Given the description of an element on the screen output the (x, y) to click on. 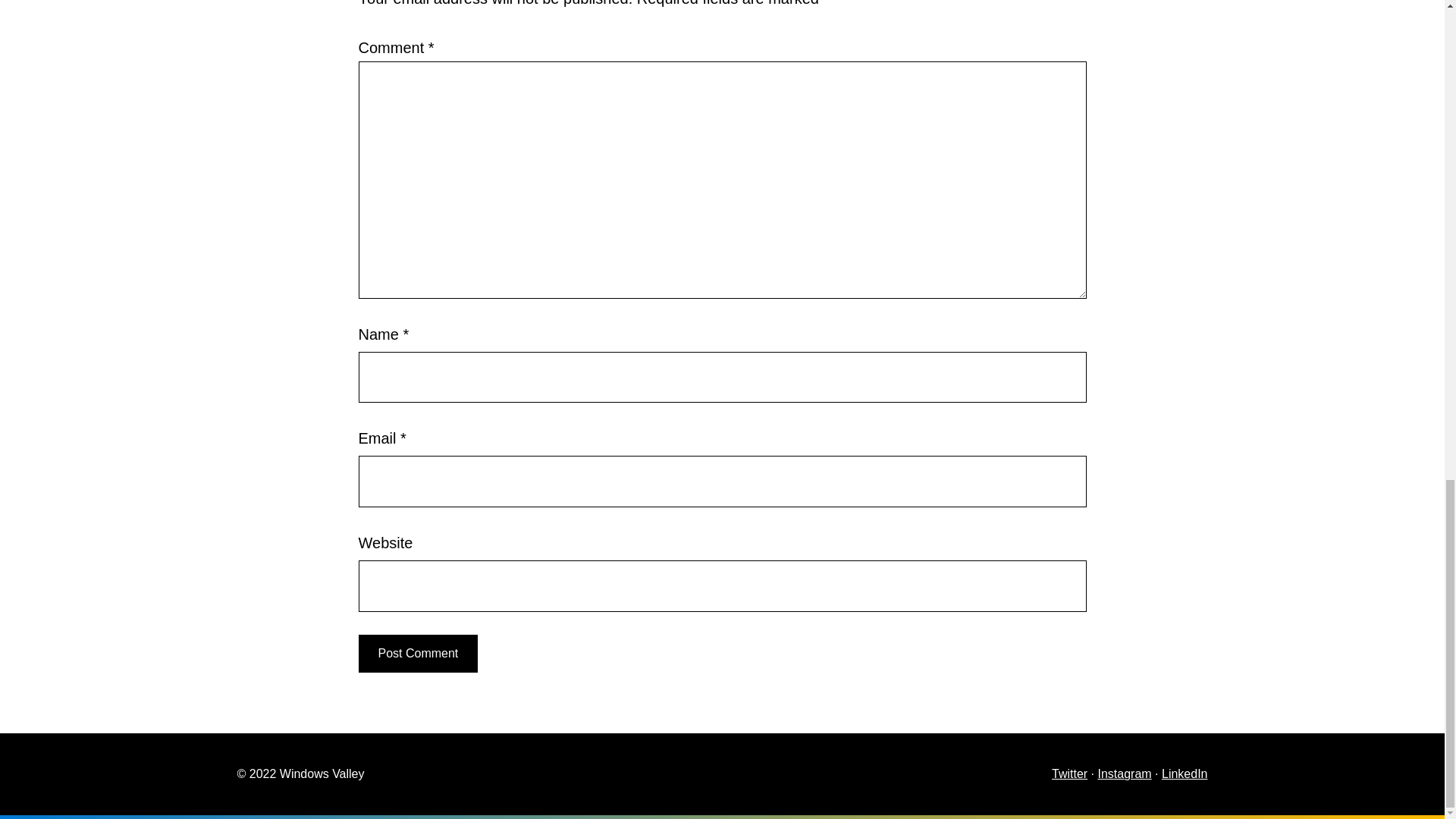
Twitter (1069, 773)
Post Comment (417, 653)
Instagram (1124, 773)
Post Comment (417, 653)
LinkedIn (1184, 773)
